Given the description of an element on the screen output the (x, y) to click on. 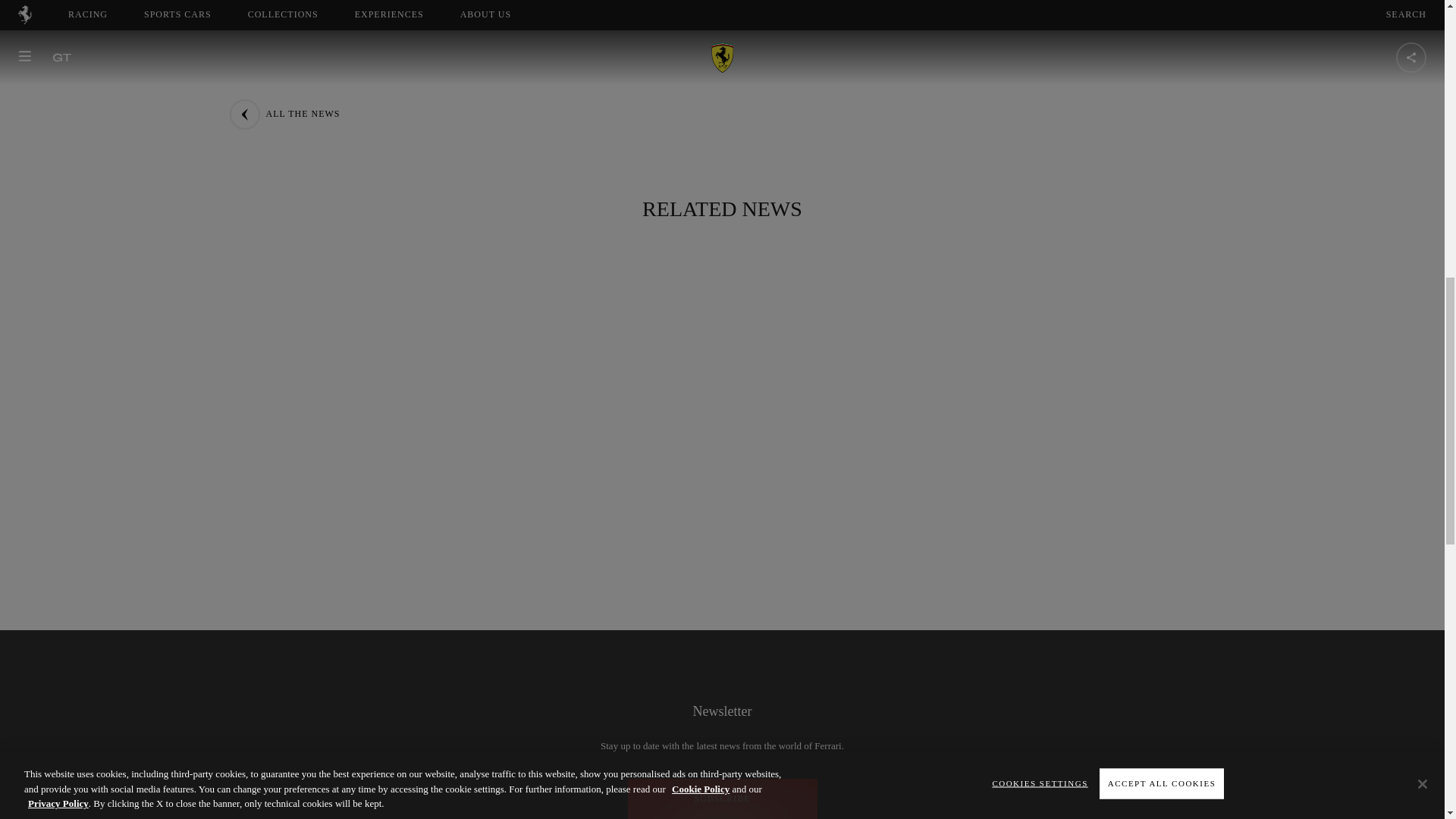
SUBSCRIBE (721, 798)
